Given the description of an element on the screen output the (x, y) to click on. 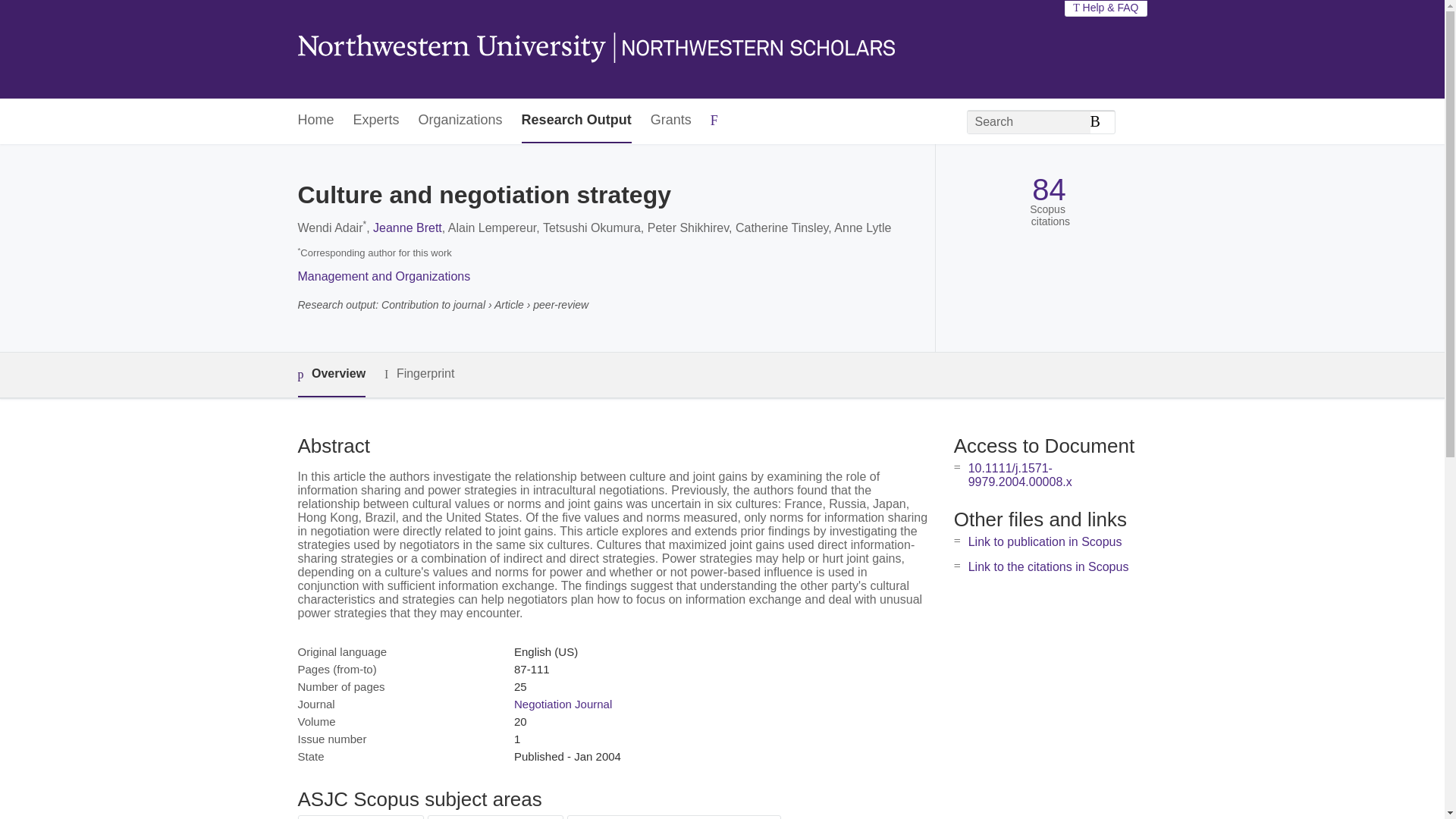
Jeanne Brett (407, 227)
84 (1048, 189)
Link to the citations in Scopus (1048, 566)
Negotiation Journal (562, 703)
Grants (670, 120)
Experts (375, 120)
Management and Organizations (383, 276)
Link to publication in Scopus (1045, 541)
Research Output (576, 120)
Northwestern Scholars Home (595, 49)
Organizations (460, 120)
Overview (331, 374)
Fingerprint (419, 373)
